Given the description of an element on the screen output the (x, y) to click on. 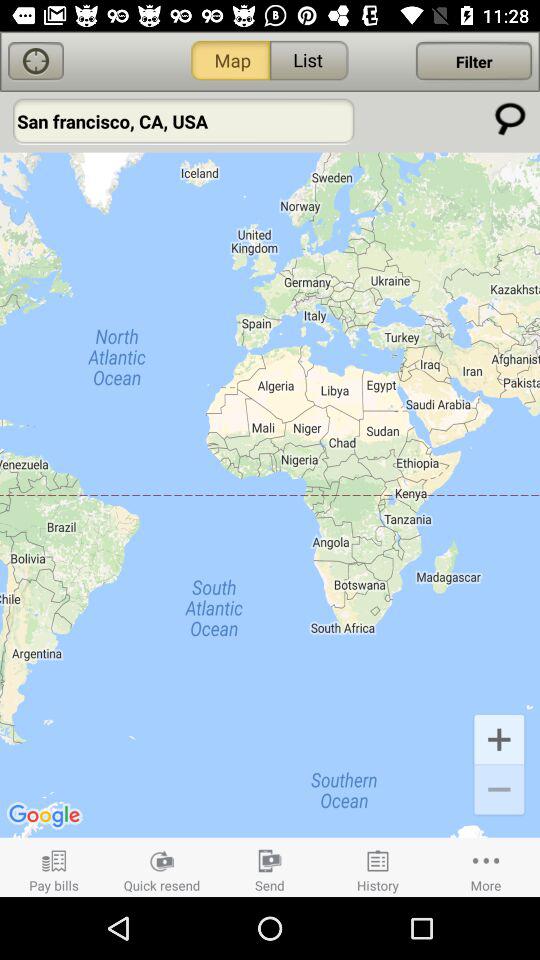
search location (509, 118)
